Given the description of an element on the screen output the (x, y) to click on. 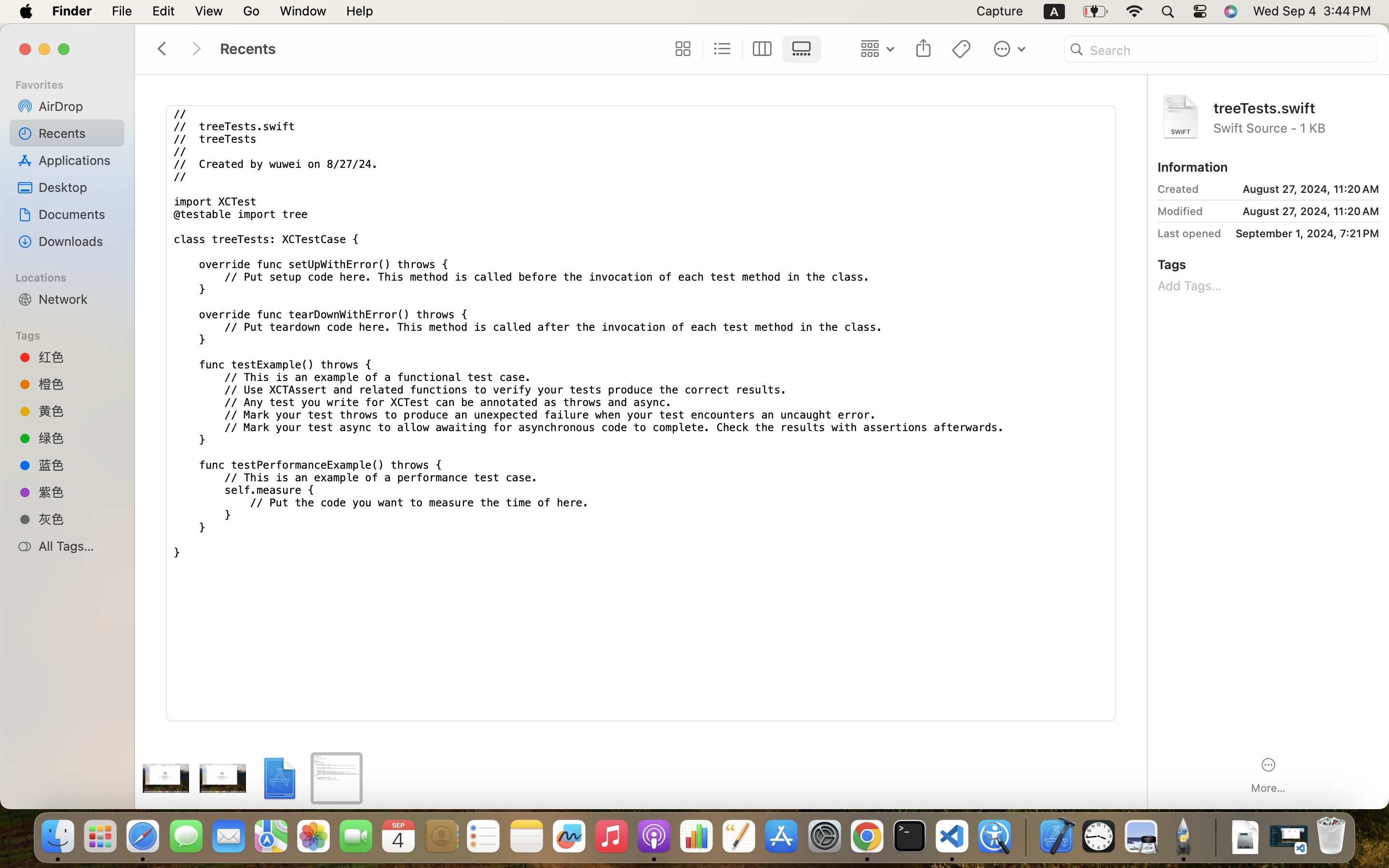
Created Element type: AXStaticText (1177, 188)
红色 Element type: AXStaticText (77, 356)
Information Element type: AXStaticText (1192, 166)
Tags Element type: AXStaticText (72, 334)
0.4285714328289032 Element type: AXDockItem (1024, 836)
